Given the description of an element on the screen output the (x, y) to click on. 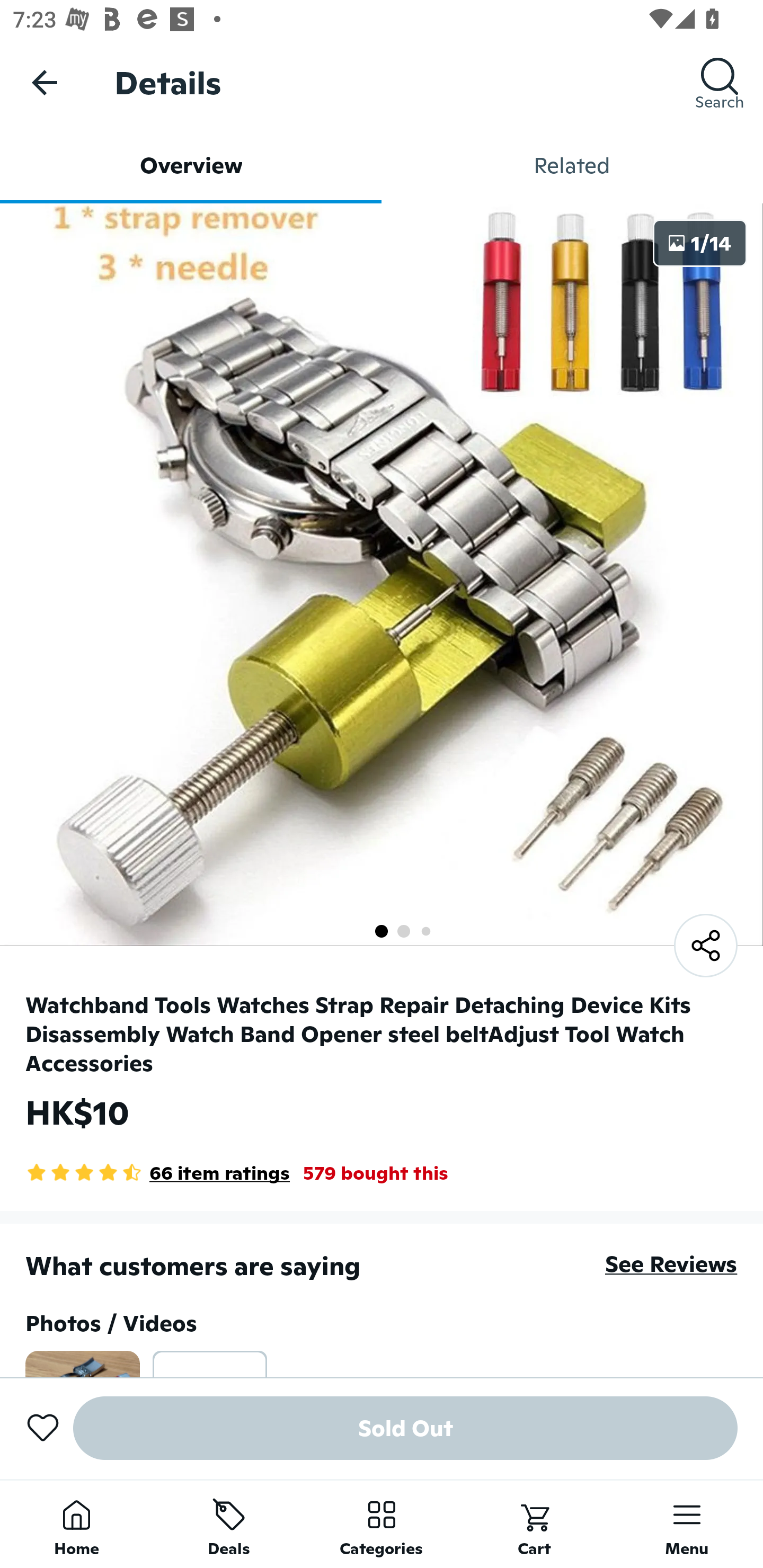
Navigate up (44, 82)
Search (719, 82)
Related (572, 165)
1/14 (700, 242)
4.6 Star Rating 66 item ratings (157, 1172)
See Reviews (671, 1264)
Sold Out (405, 1428)
Home (76, 1523)
Deals (228, 1523)
Categories (381, 1523)
Cart (533, 1523)
Menu (686, 1523)
